Given the description of an element on the screen output the (x, y) to click on. 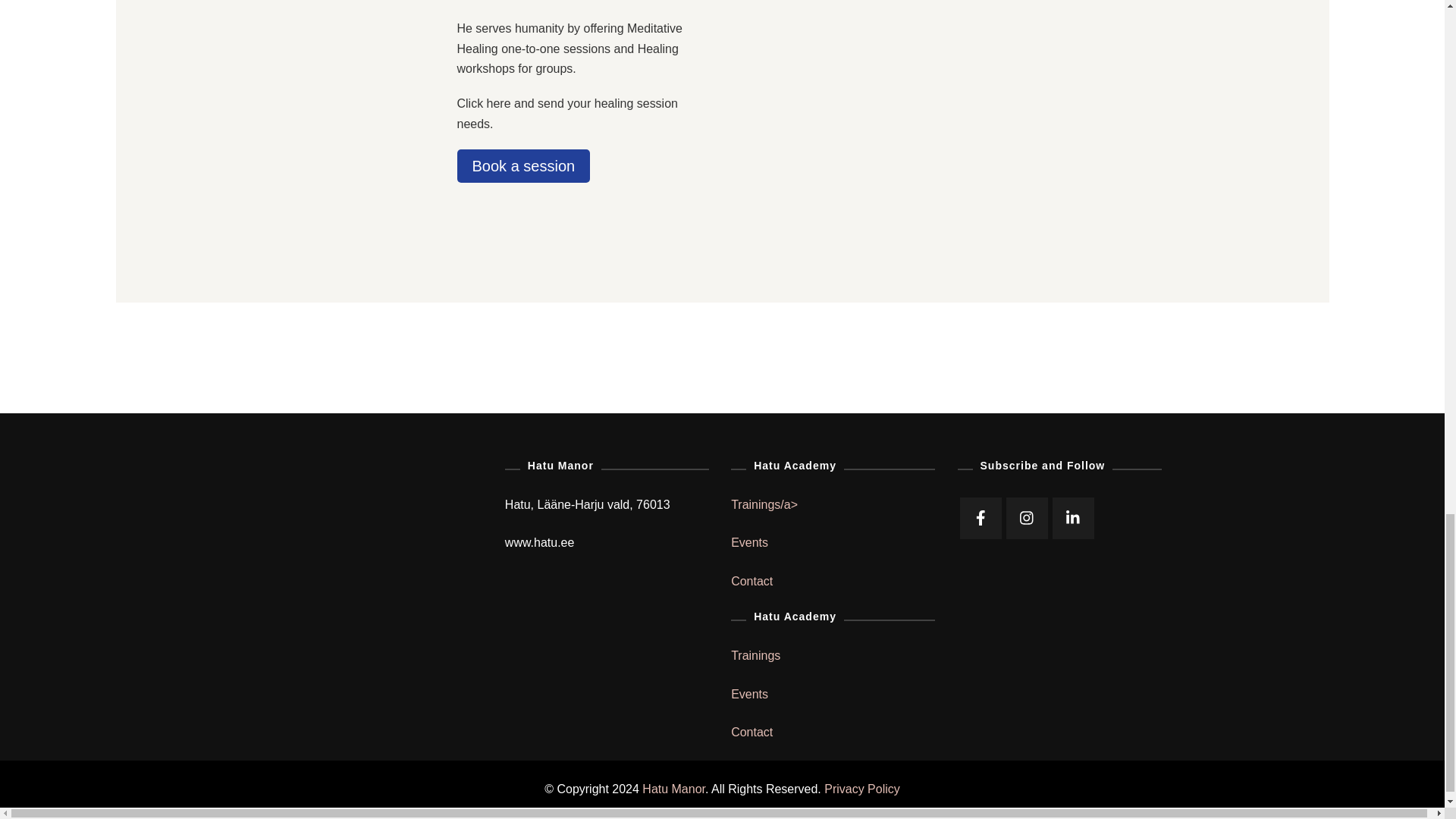
Book a session (523, 165)
